Given the description of an element on the screen output the (x, y) to click on. 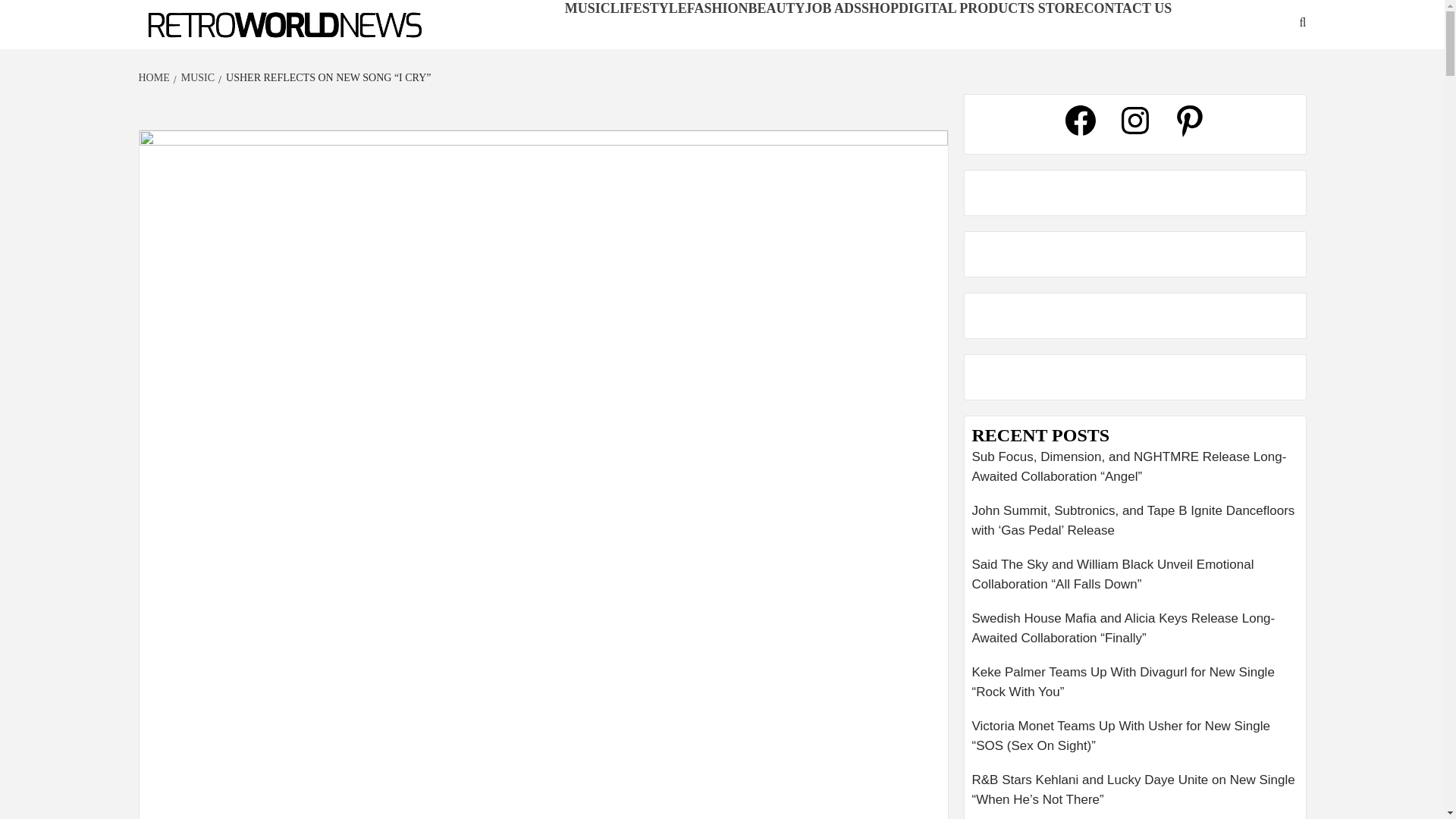
LIFESTYLE (648, 7)
HOME (155, 77)
JOB ADS (833, 7)
DIGITAL PRODUCTS STORE (990, 7)
MUSIC (195, 77)
SHOP (879, 7)
FASHION (717, 7)
BEAUTY (776, 7)
CONTACT US (1127, 7)
RETROWORLDNEWS (223, 48)
